Given the description of an element on the screen output the (x, y) to click on. 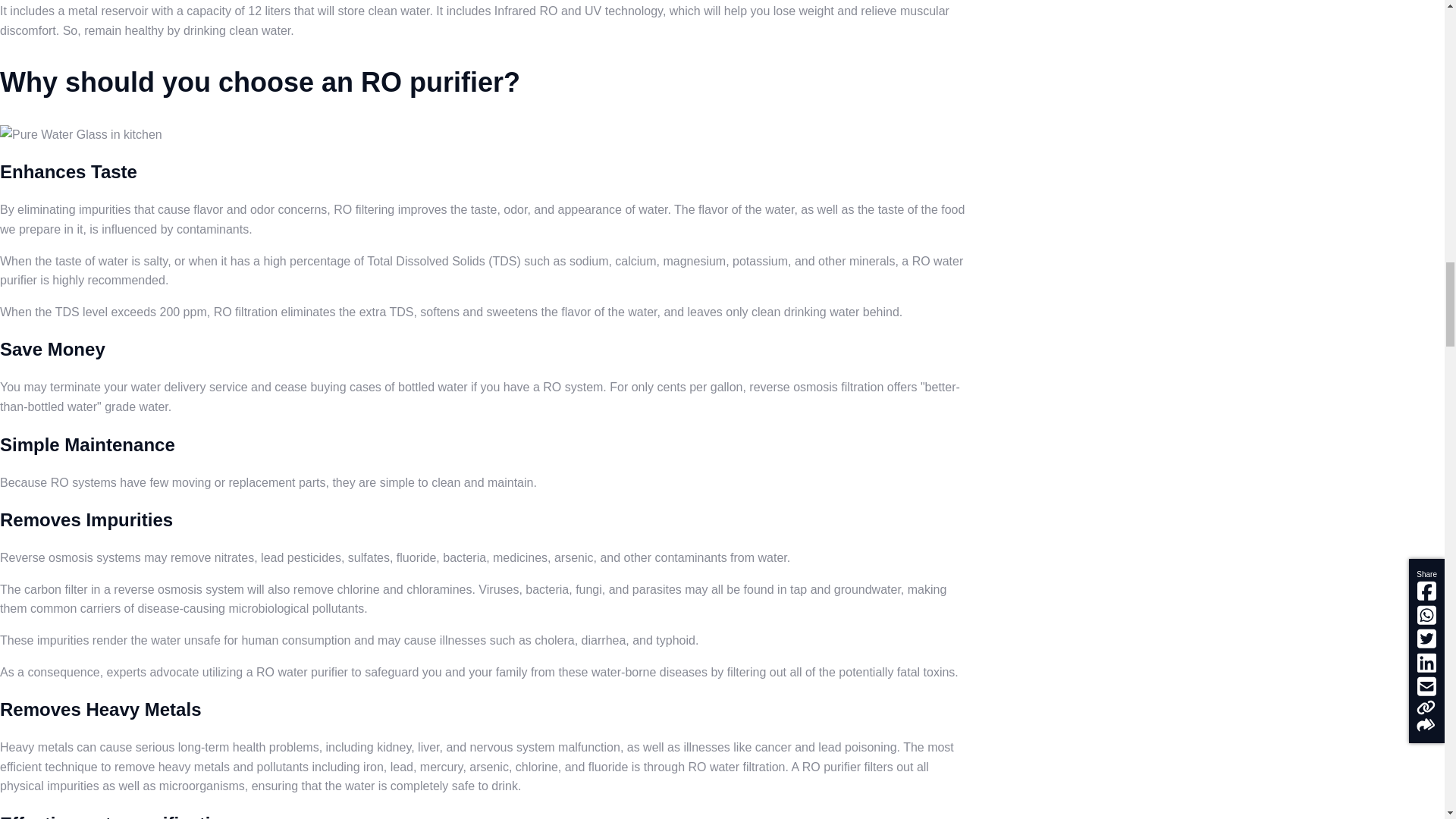
Pure Water Glass in kitchen (80, 134)
